Given the description of an element on the screen output the (x, y) to click on. 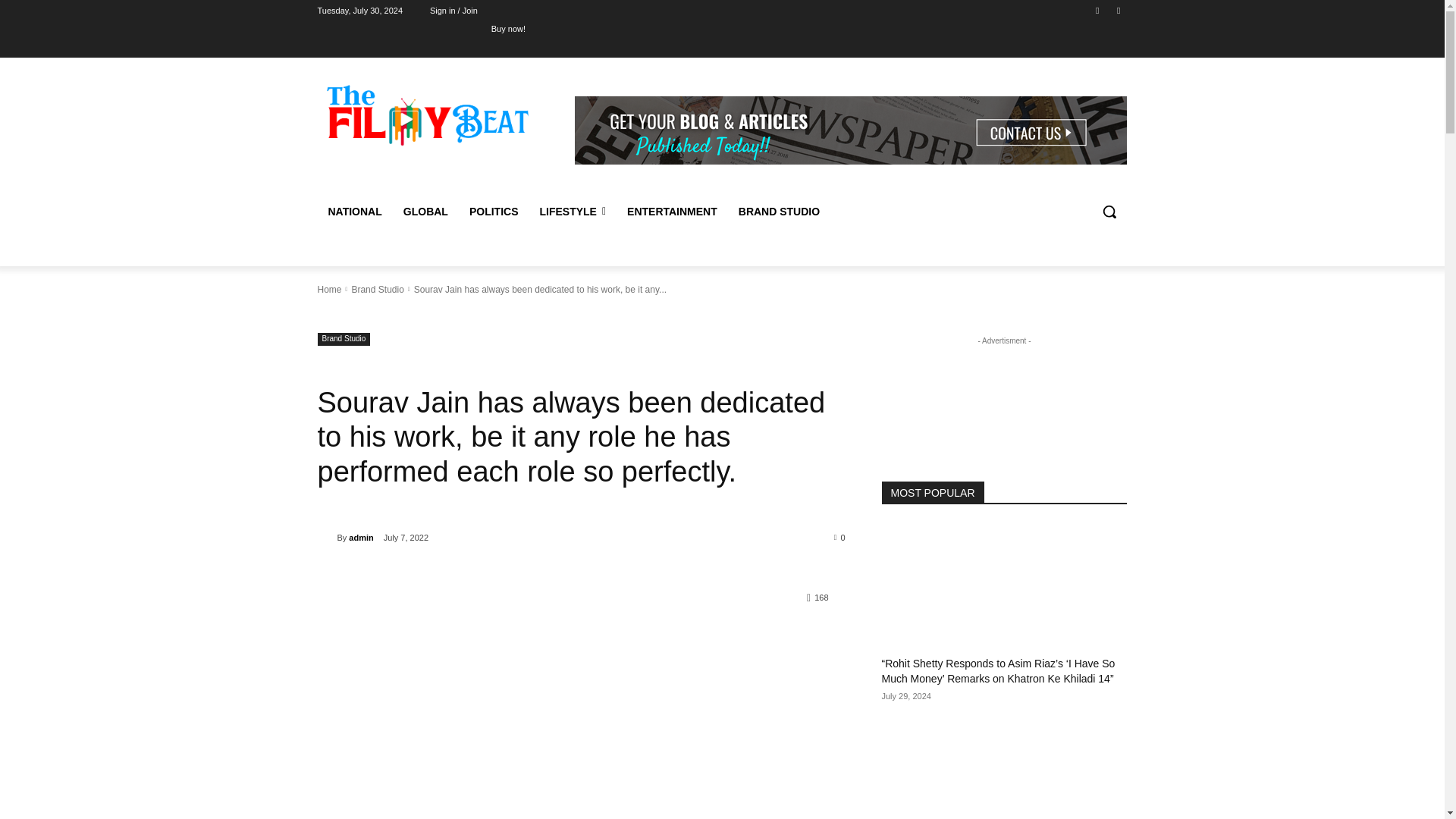
NATIONAL (354, 211)
Buy now! (508, 28)
Instagram (1117, 9)
Facebook (1097, 9)
POLITICS (493, 211)
GLOBAL (425, 211)
LIFESTYLE (571, 211)
